Given the description of an element on the screen output the (x, y) to click on. 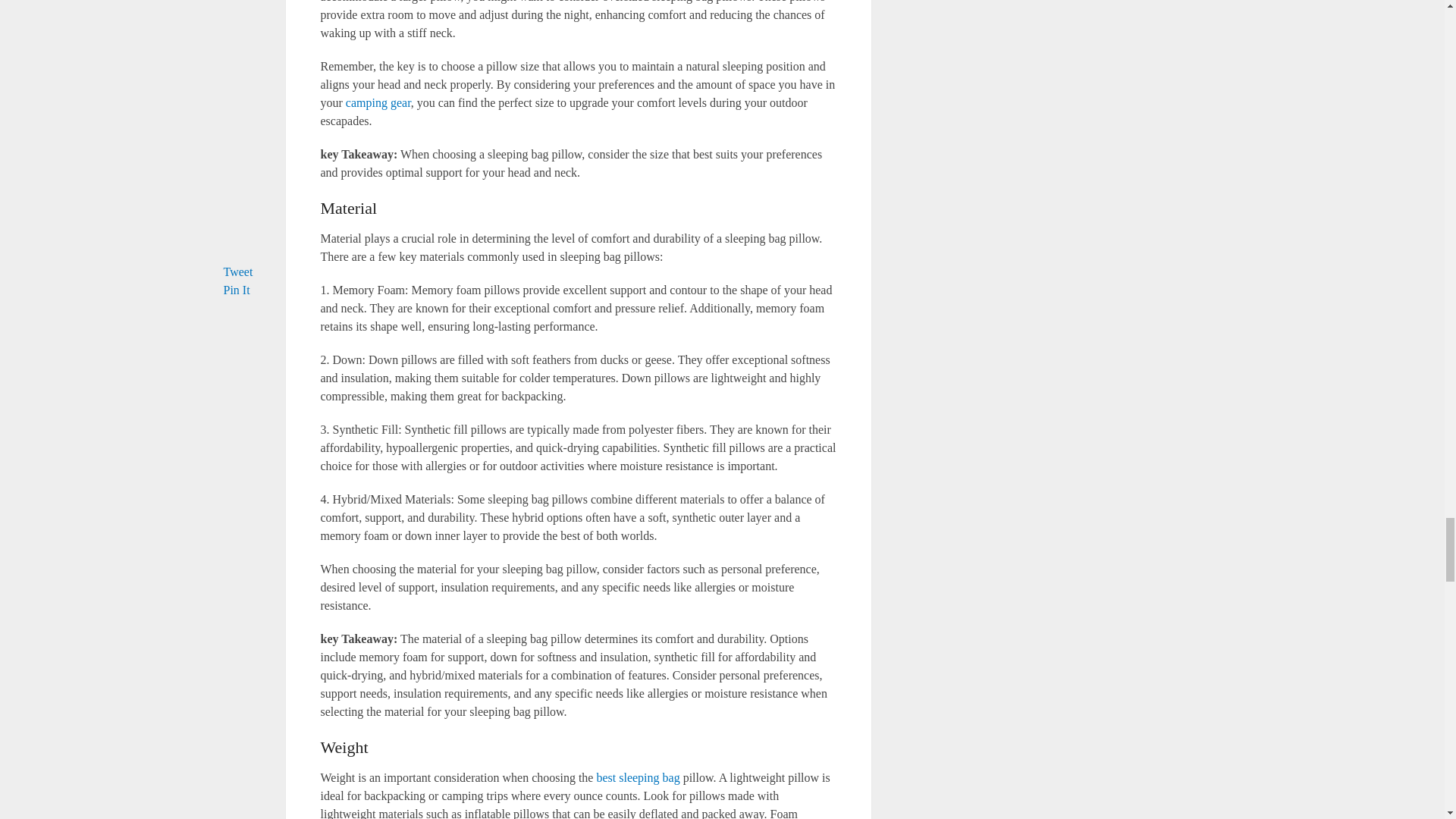
best sleeping bag (637, 777)
camping gear (378, 102)
